Given the description of an element on the screen output the (x, y) to click on. 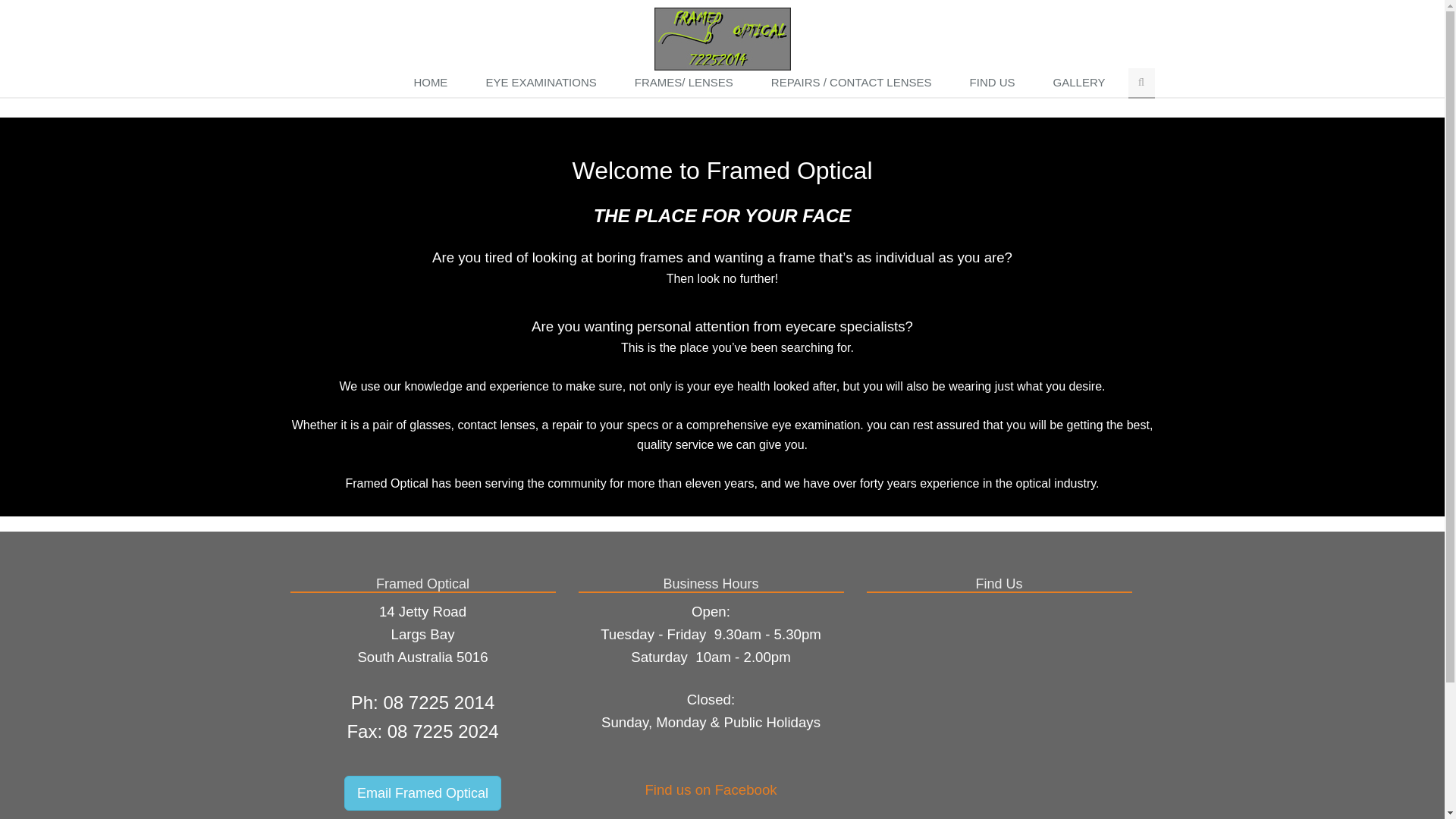
FRAMES/ LENSES Element type: text (687, 83)
HOME Element type: text (434, 83)
FIND US Element type: text (996, 83)
Email Framed Optical Element type: text (422, 792)
EYE EXAMINATIONS Element type: text (544, 83)
GALLERY Element type: text (1083, 83)
Find us on Facebook Element type: text (710, 789)
REPAIRS / CONTACT LENSES Element type: text (855, 83)
Home Element type: hover (721, 37)
Framed Optical - Optician Largs Bay Element type: hover (721, 38)
